Given the description of an element on the screen output the (x, y) to click on. 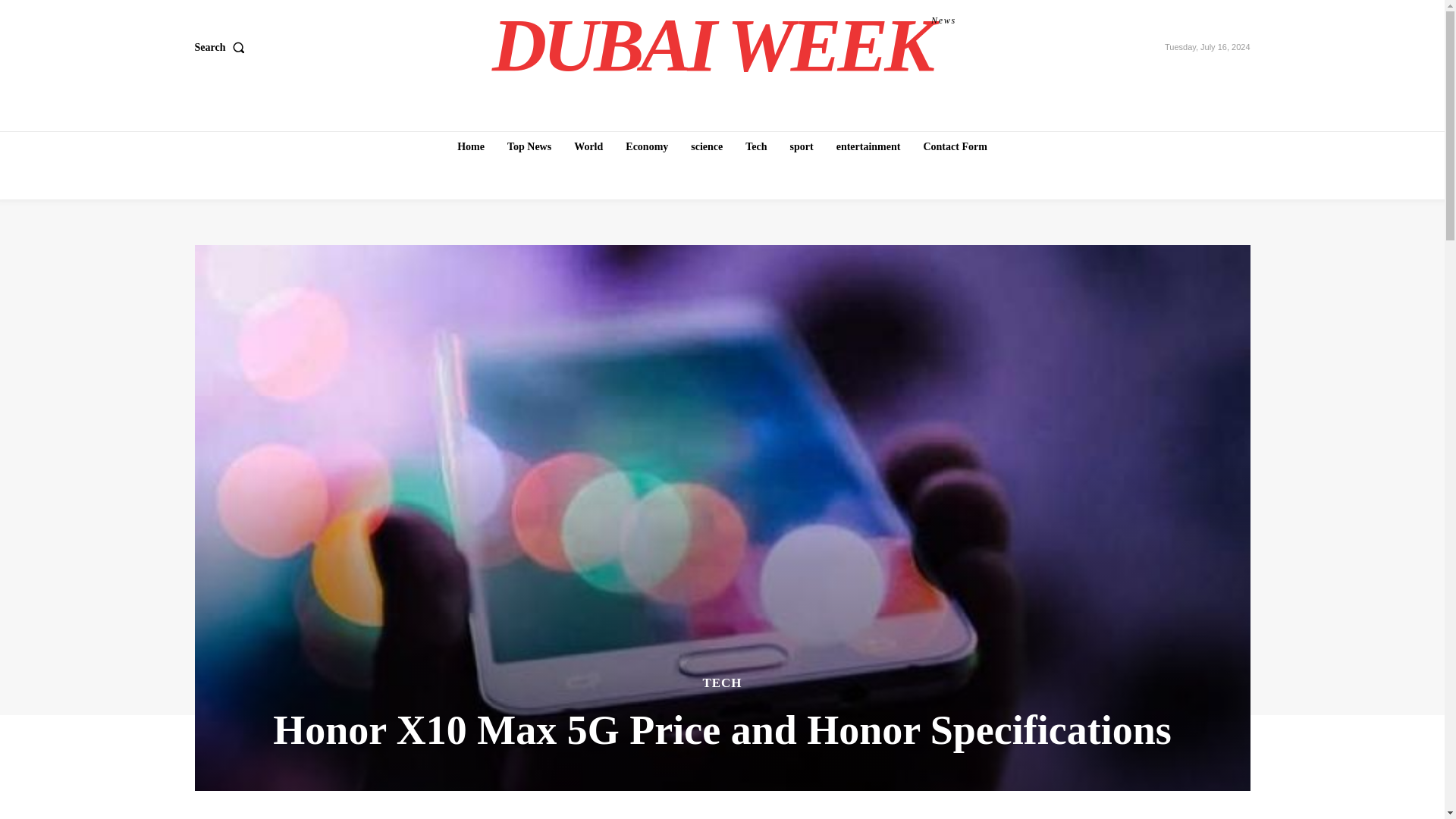
World (724, 45)
Search (588, 146)
Tech (221, 47)
Economy (756, 146)
science (646, 146)
Contact Form (706, 146)
Top News (954, 146)
sport (529, 146)
entertainment (802, 146)
Home (868, 146)
